Given the description of an element on the screen output the (x, y) to click on. 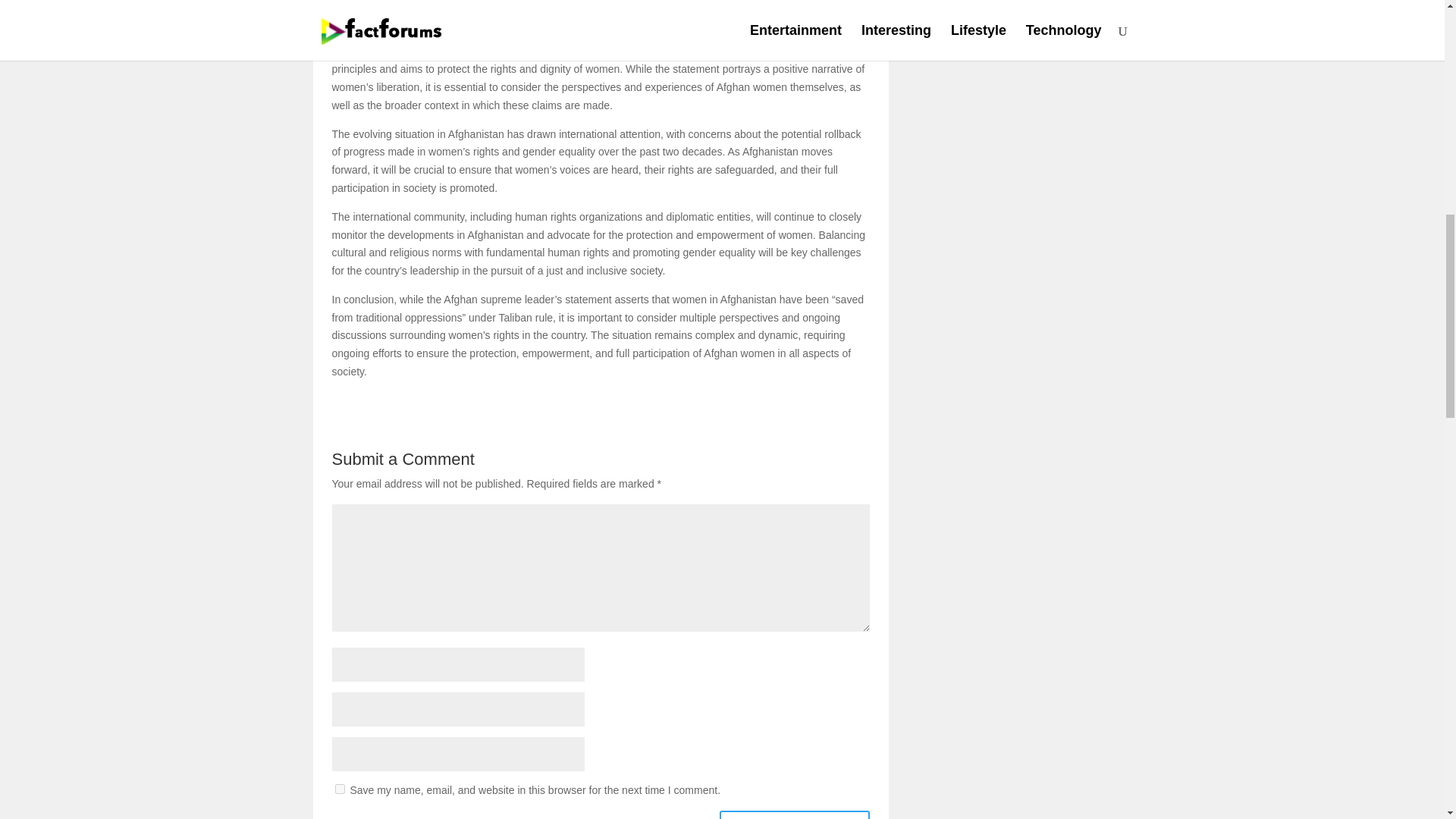
Submit Comment (794, 814)
Submit Comment (794, 814)
yes (339, 788)
